Given the description of an element on the screen output the (x, y) to click on. 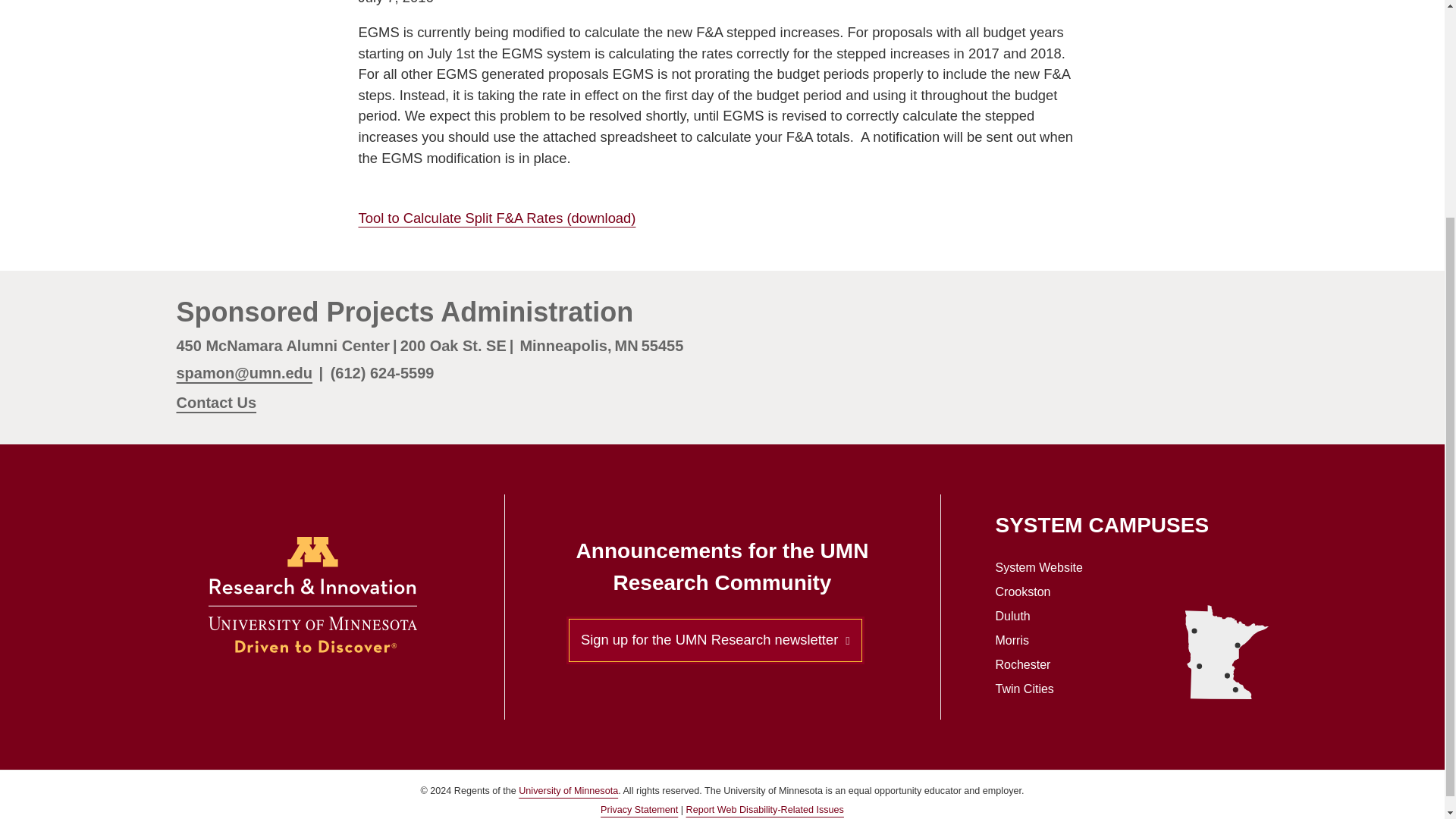
University of Minnesota Morris (1199, 666)
University of Minnesota Duluth (1237, 644)
